Given the description of an element on the screen output the (x, y) to click on. 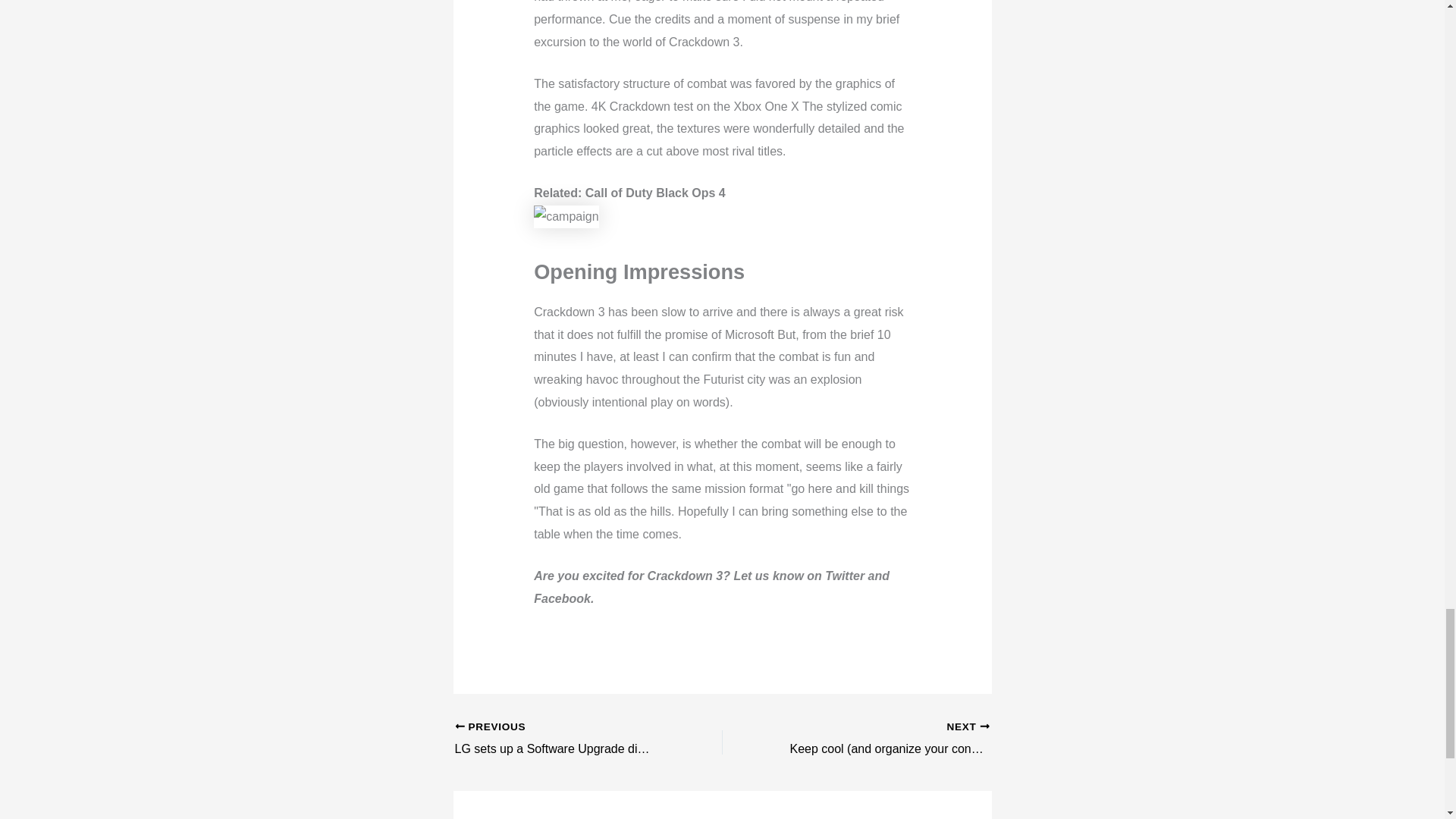
crackdown (566, 216)
